Given the description of an element on the screen output the (x, y) to click on. 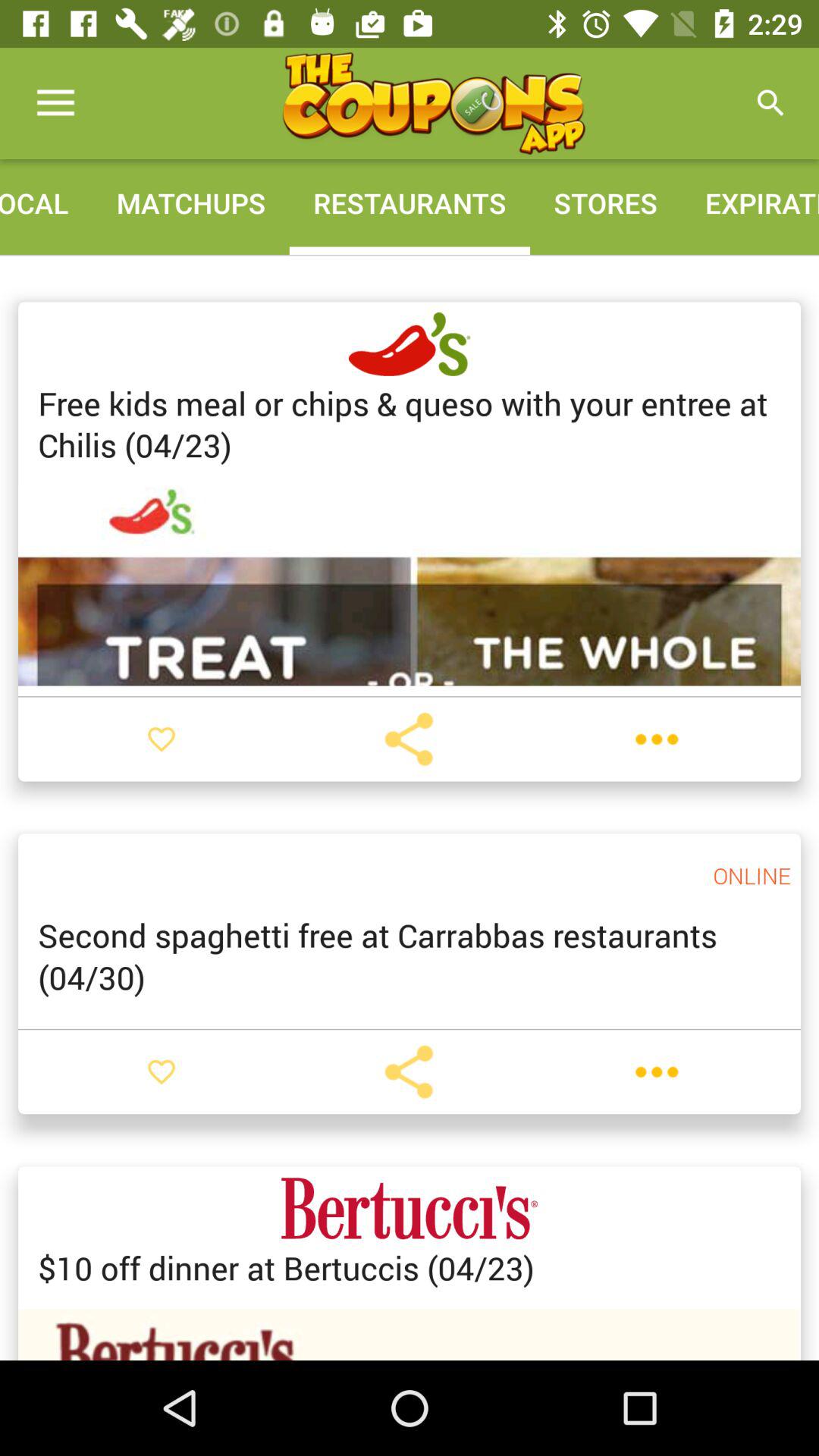
choose the item next to the stores icon (771, 103)
